Given the description of an element on the screen output the (x, y) to click on. 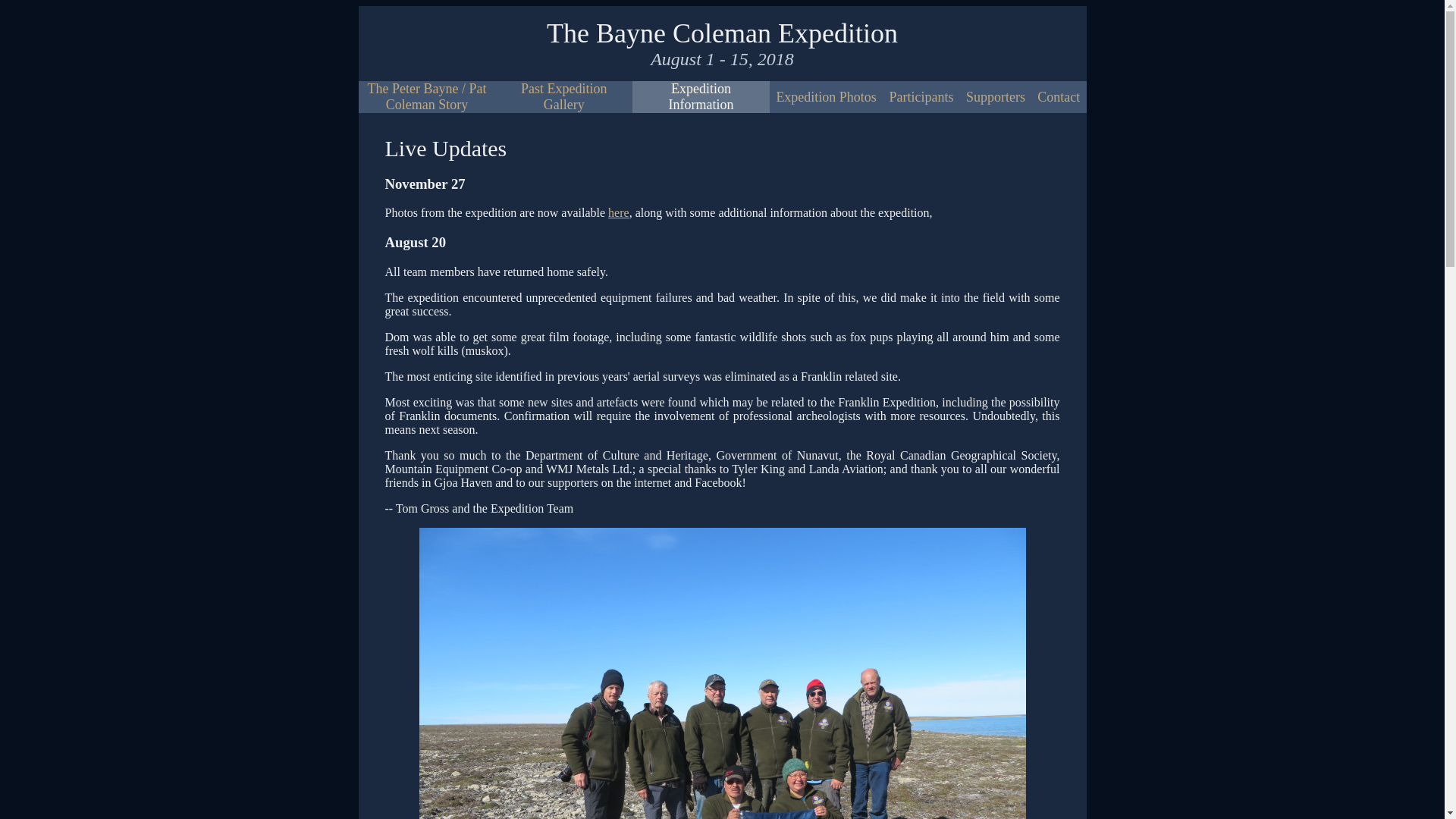
The Bayne Coleman Expedition Element type: text (721, 33)
The Peter Bayne / Pat Coleman Story Element type: text (426, 96)
Expedition Information Element type: text (700, 96)
Contact Element type: text (1058, 97)
Participants Element type: text (920, 97)
Supporters Element type: text (995, 97)
here Element type: text (618, 212)
Expedition Photos Element type: text (825, 97)
Past Expedition Gallery Element type: text (563, 96)
